Given the description of an element on the screen output the (x, y) to click on. 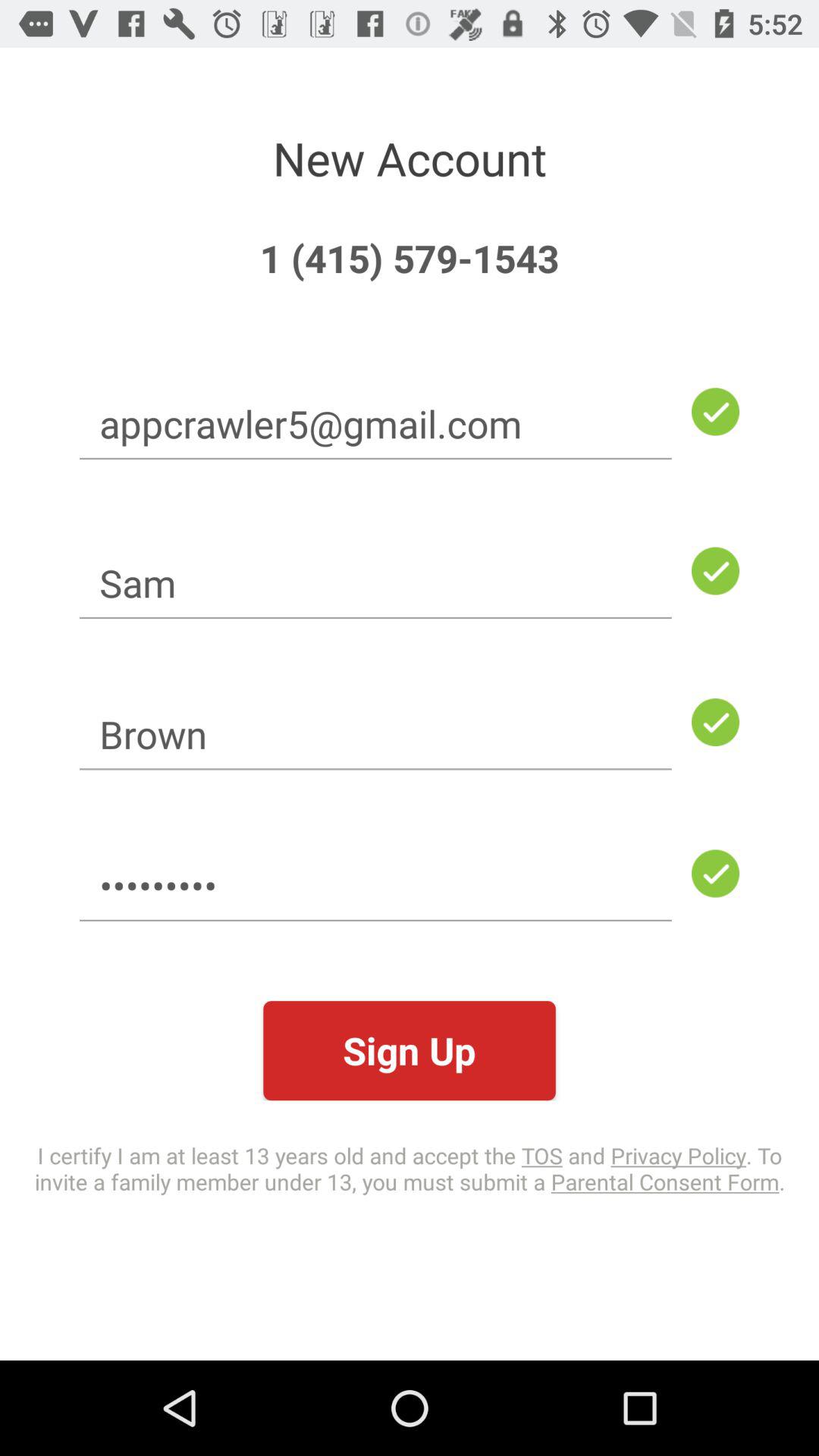
turn off item below the sign up icon (409, 1168)
